Given the description of an element on the screen output the (x, y) to click on. 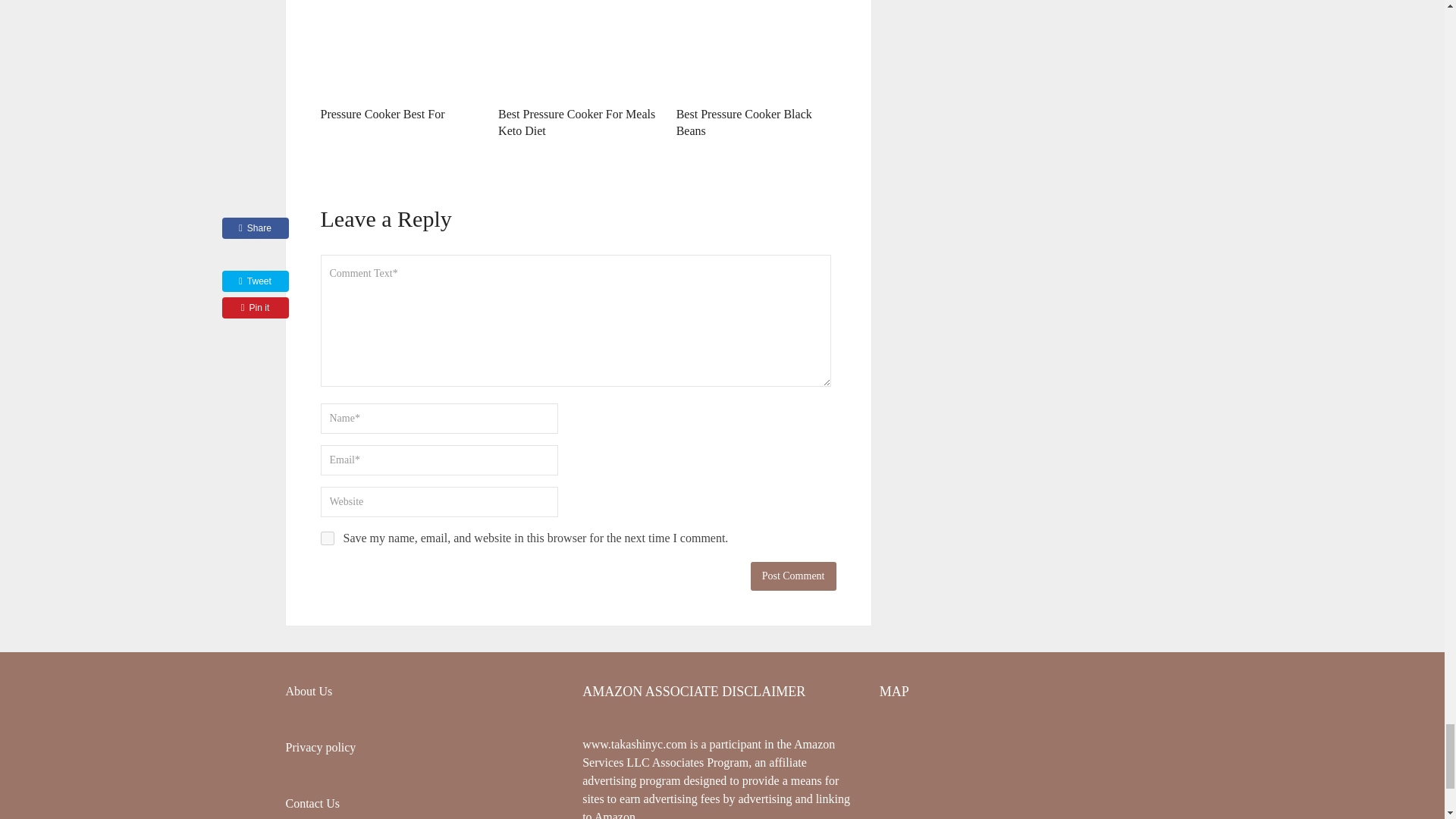
yes (326, 538)
Post Comment (793, 575)
